Given the description of an element on the screen output the (x, y) to click on. 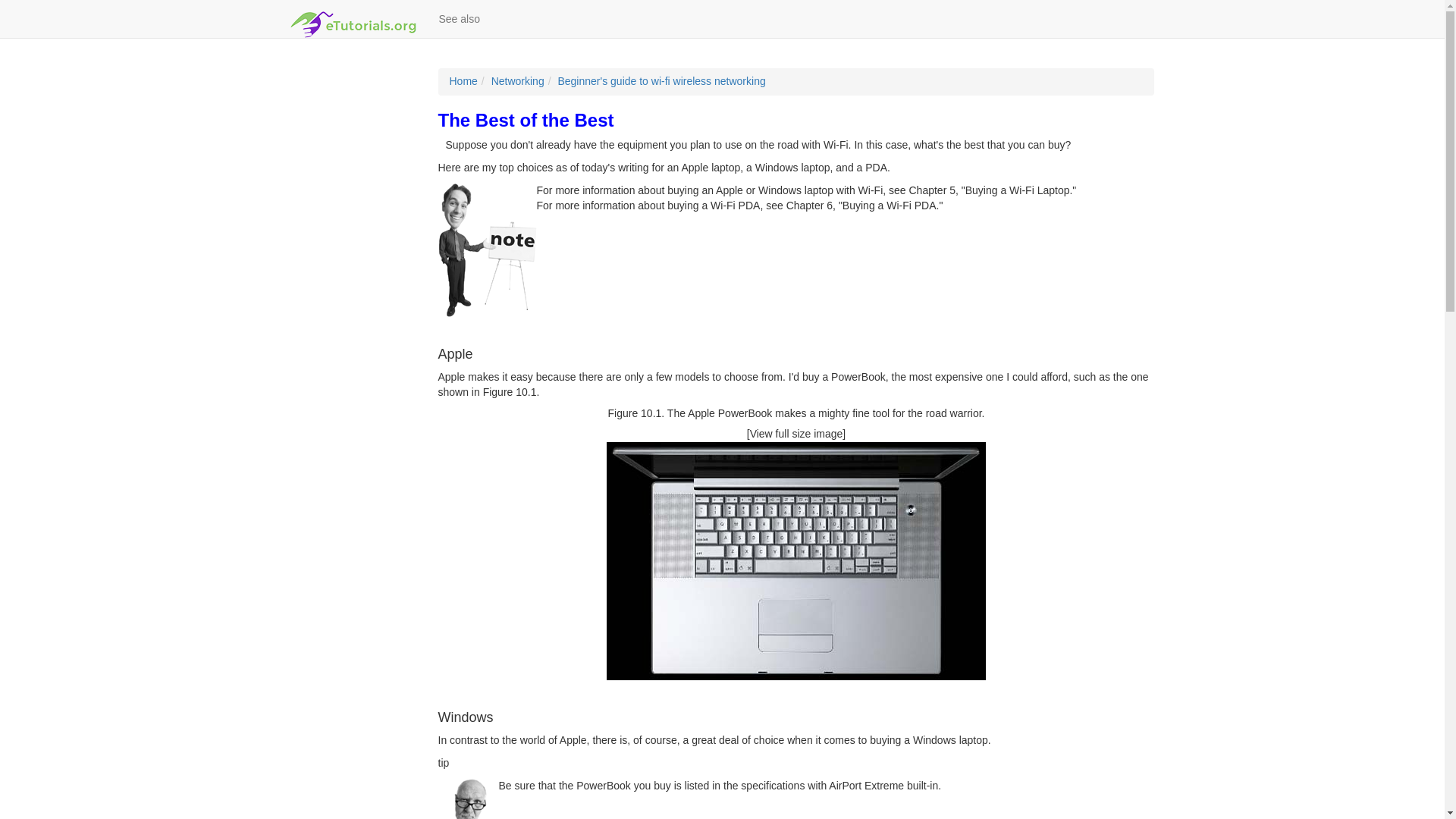
Tutorial (661, 80)
Networking (518, 80)
Category (518, 80)
Beginner's guide to wi-fi wireless networking (661, 80)
See also (460, 18)
Home (462, 80)
Main Page (462, 80)
To home page (353, 18)
